Given the description of an element on the screen output the (x, y) to click on. 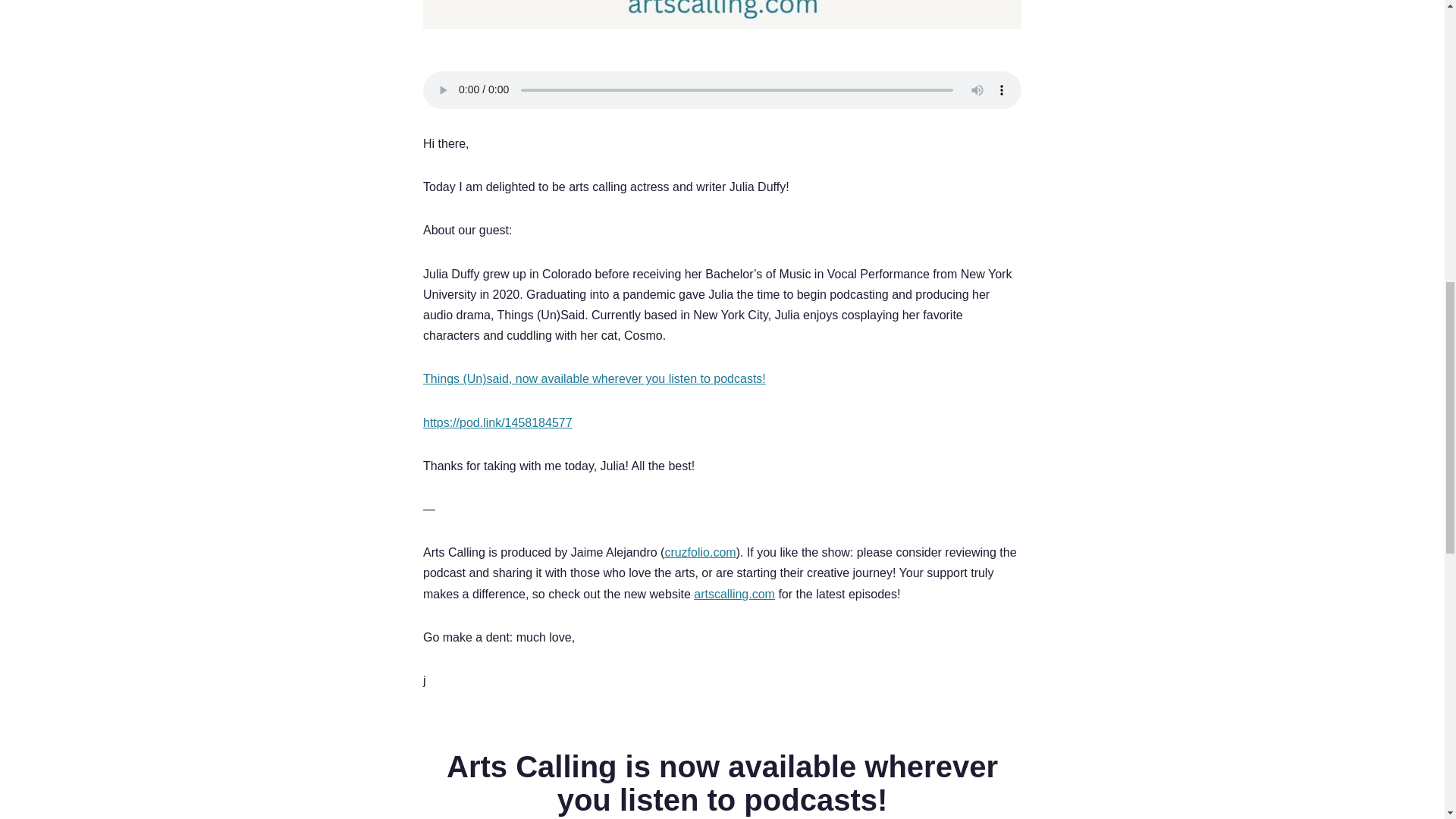
artscalling.com (734, 594)
cruzfolio.com (699, 552)
